Given the description of an element on the screen output the (x, y) to click on. 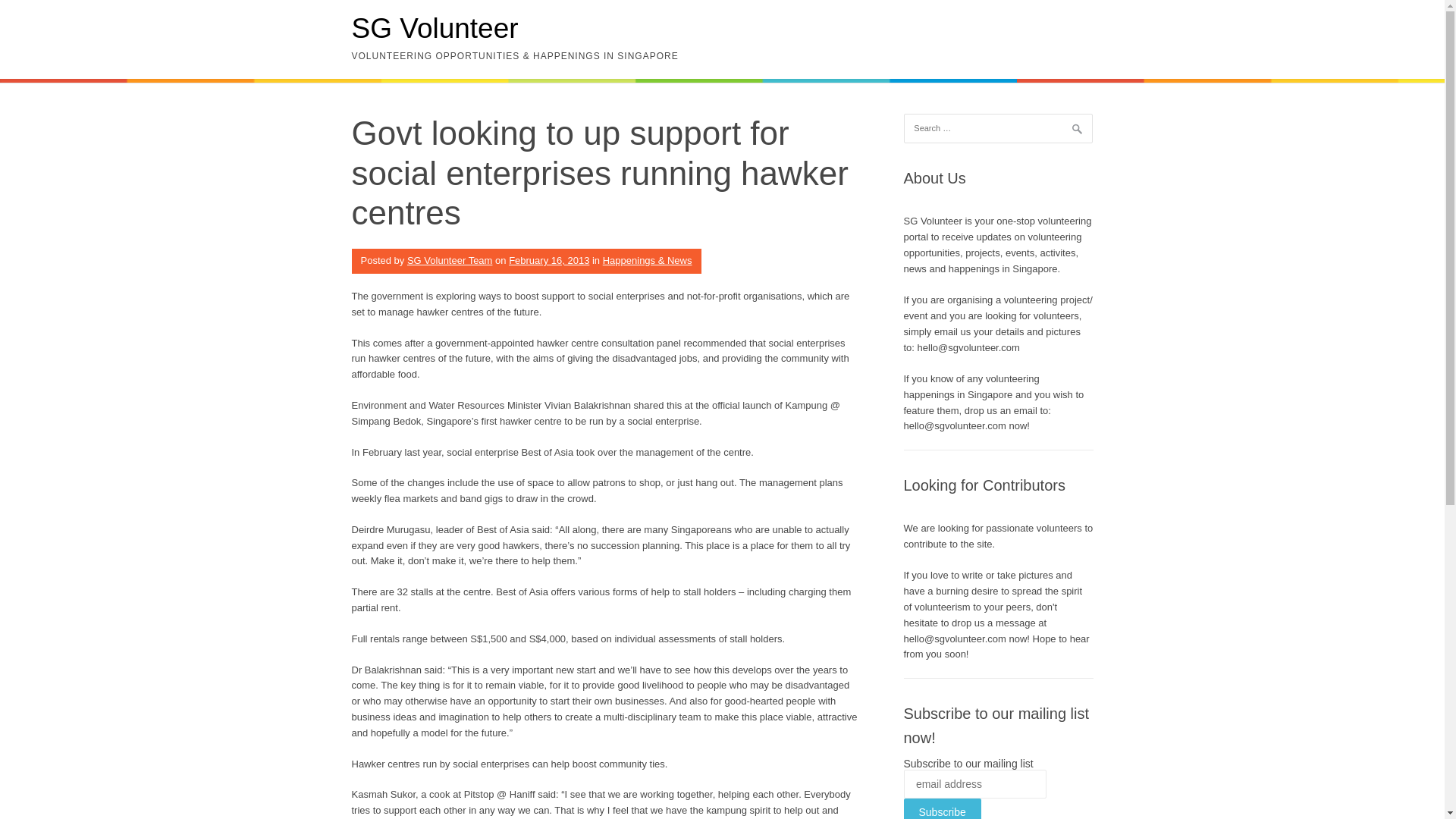
SG Volunteer Team (450, 260)
February 16, 2013 (548, 260)
Search (30, 15)
Subscribe (942, 808)
Subscribe (942, 808)
SG Volunteer (435, 28)
